Given the description of an element on the screen output the (x, y) to click on. 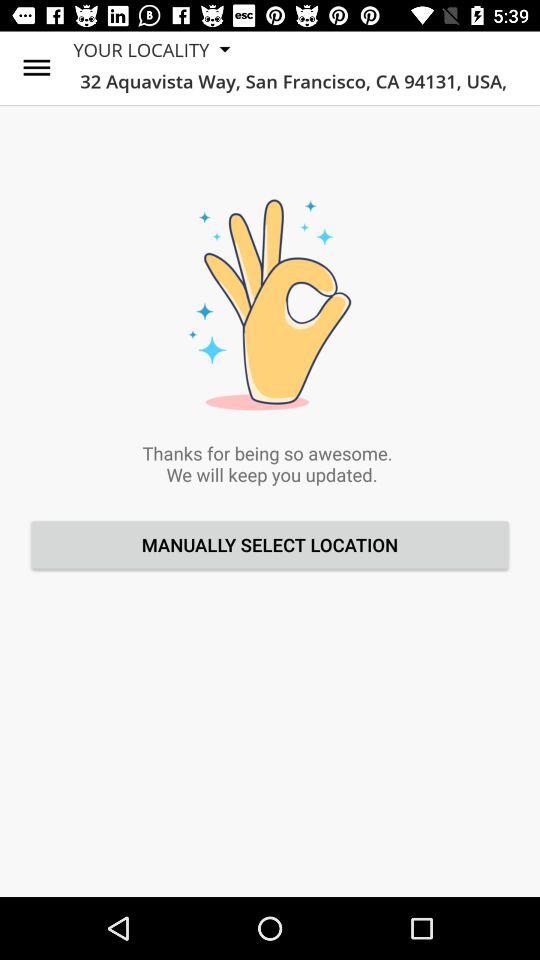
select the manually select location (269, 544)
